Given the description of an element on the screen output the (x, y) to click on. 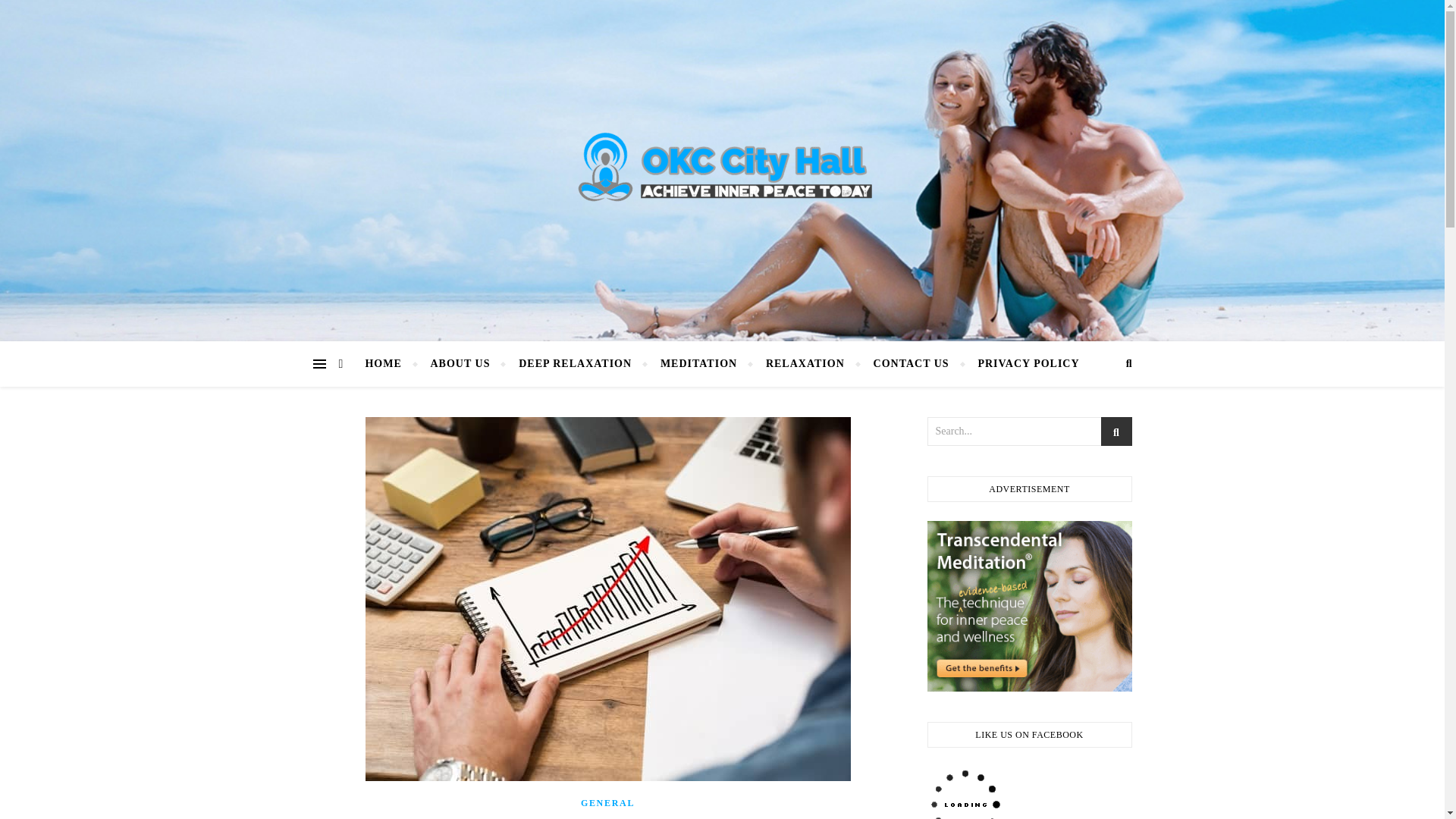
DEEP RELAXATION (575, 363)
RELAXATION (804, 363)
CONTACT US (911, 363)
ABOUT US (459, 363)
MEDITATION (698, 363)
HOME (389, 363)
PRIVACY POLICY (1020, 363)
GENERAL (607, 802)
